Given the description of an element on the screen output the (x, y) to click on. 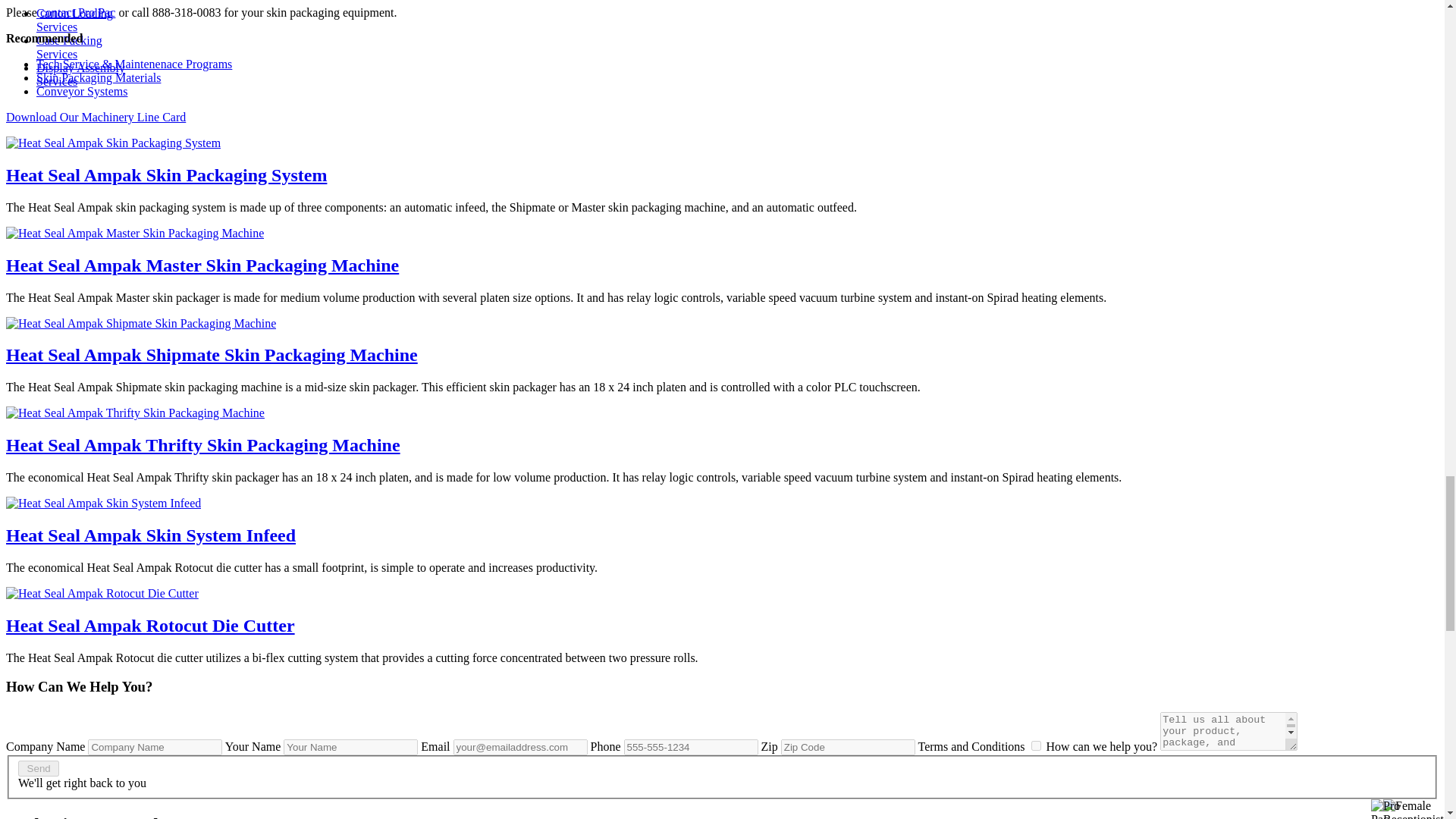
on (1035, 746)
